Given the description of an element on the screen output the (x, y) to click on. 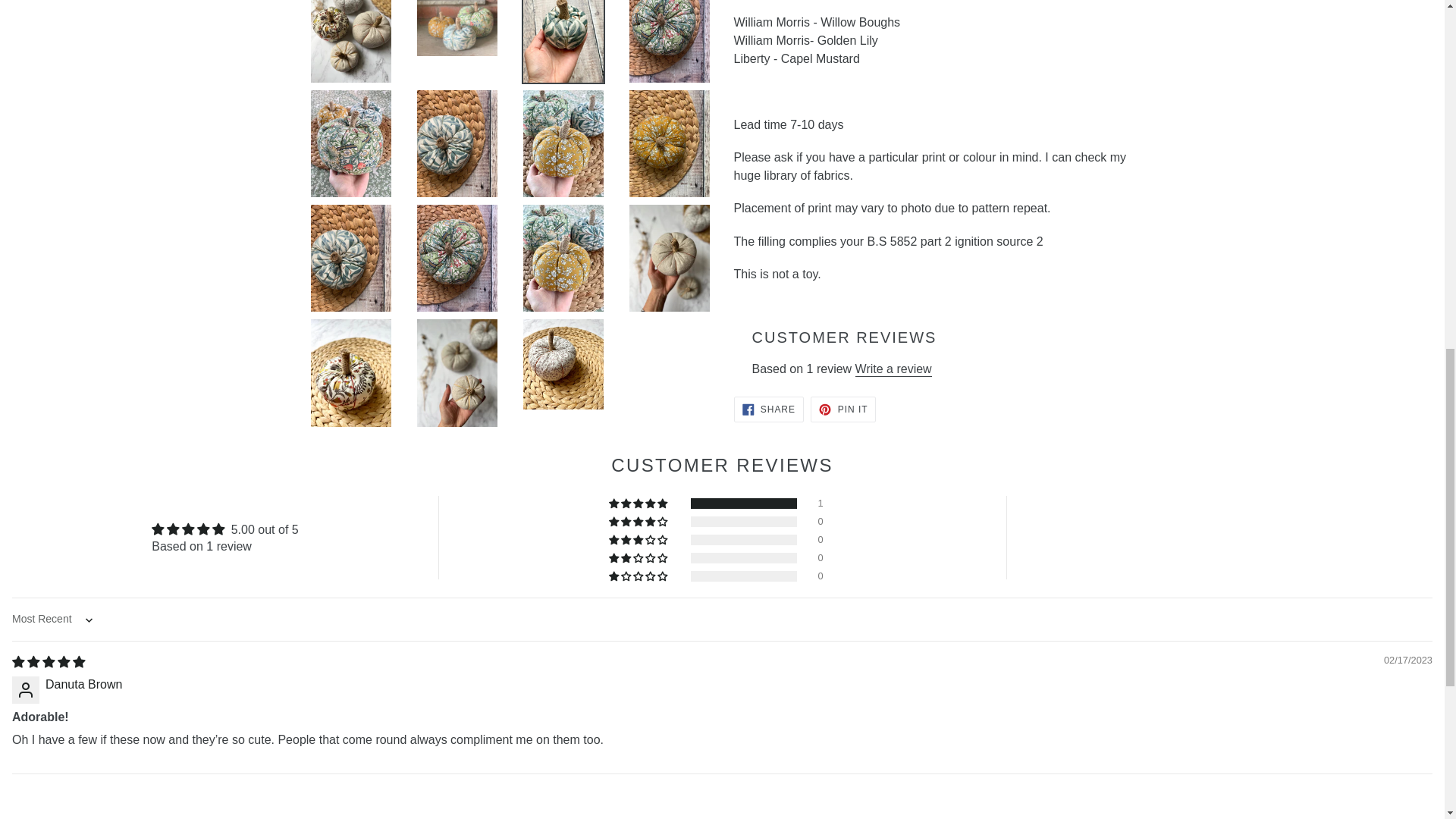
Pin on Pinterest (843, 409)
Share on Facebook (768, 409)
